Given the description of an element on the screen output the (x, y) to click on. 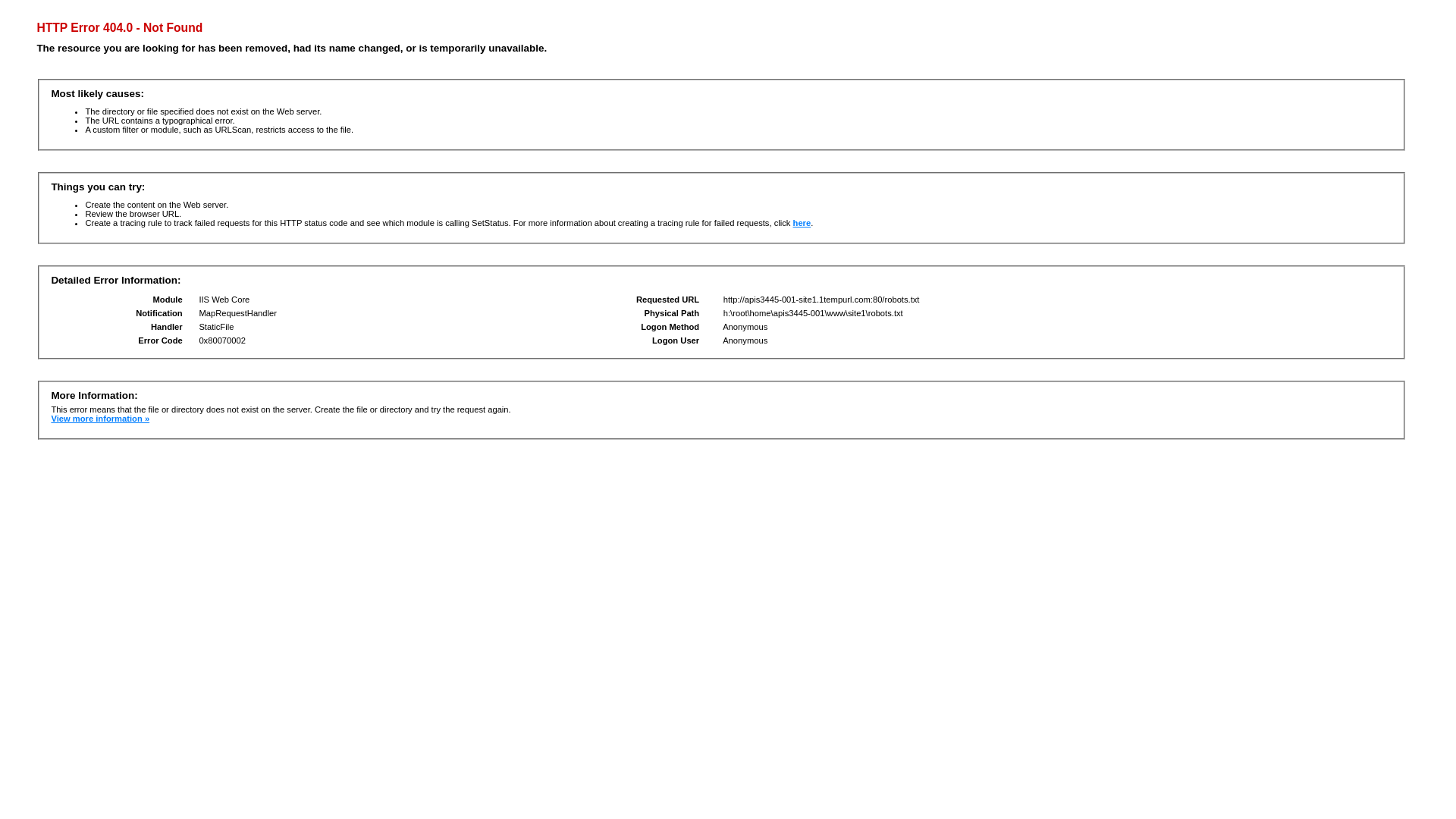
here Element type: text (802, 222)
